Given the description of an element on the screen output the (x, y) to click on. 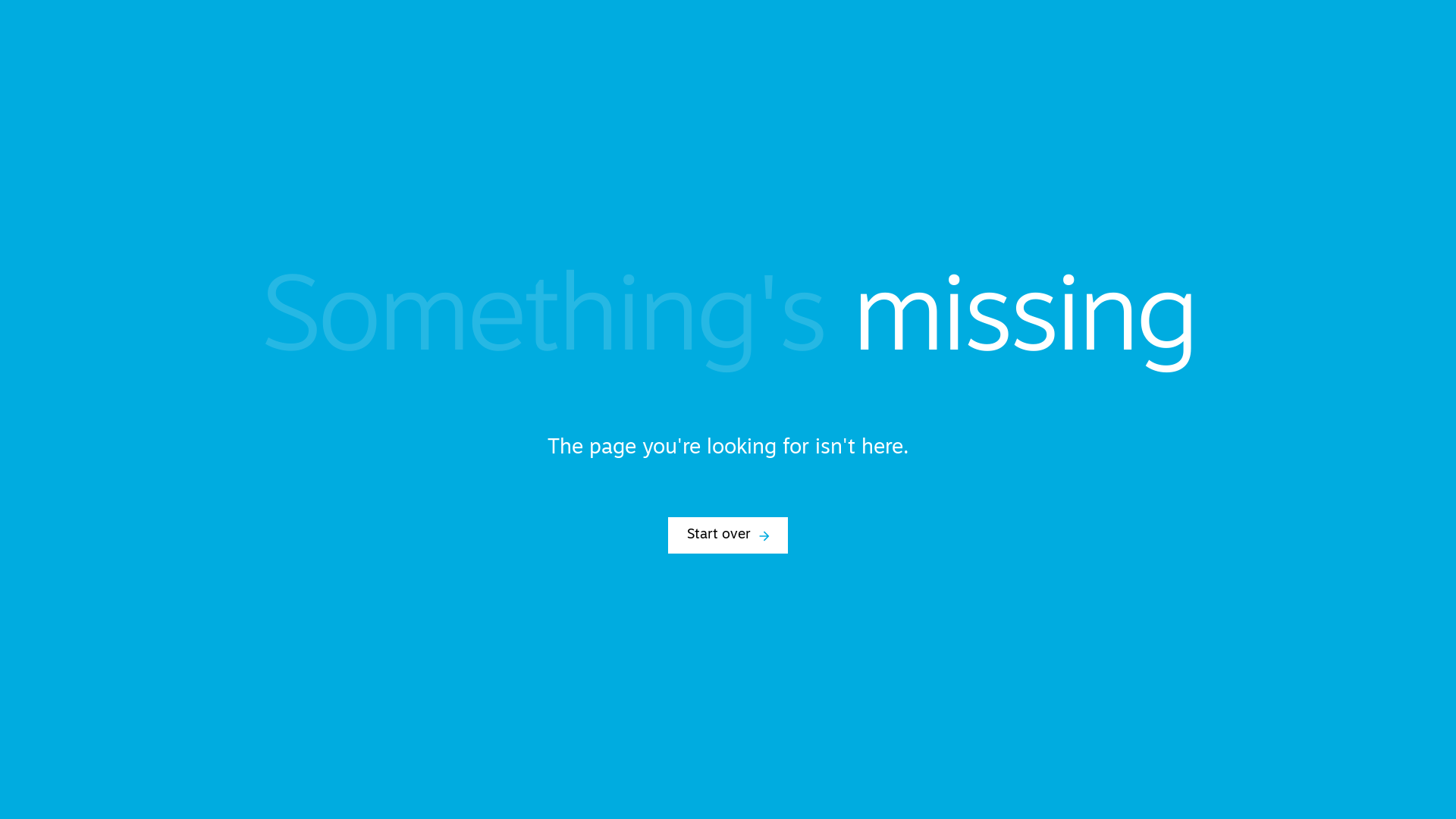
Start over Element type: text (727, 535)
